Given the description of an element on the screen output the (x, y) to click on. 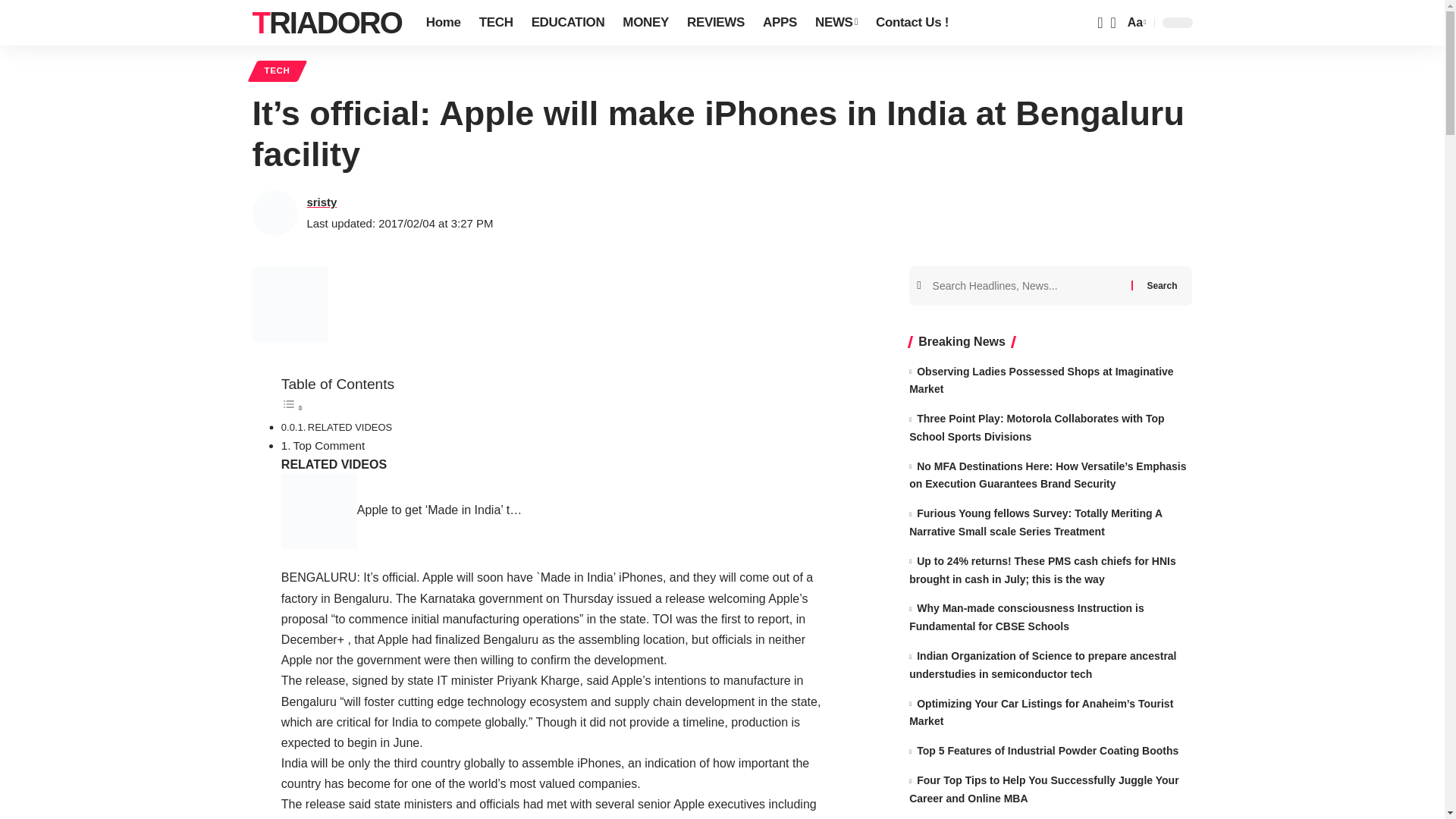
Home (443, 22)
Aa (1135, 22)
Triadoro (326, 22)
RELATED VIDEOS (349, 427)
Search (1161, 284)
Top Comment (329, 445)
APPS (780, 22)
Search (1161, 284)
REVIEWS (716, 22)
